Given the description of an element on the screen output the (x, y) to click on. 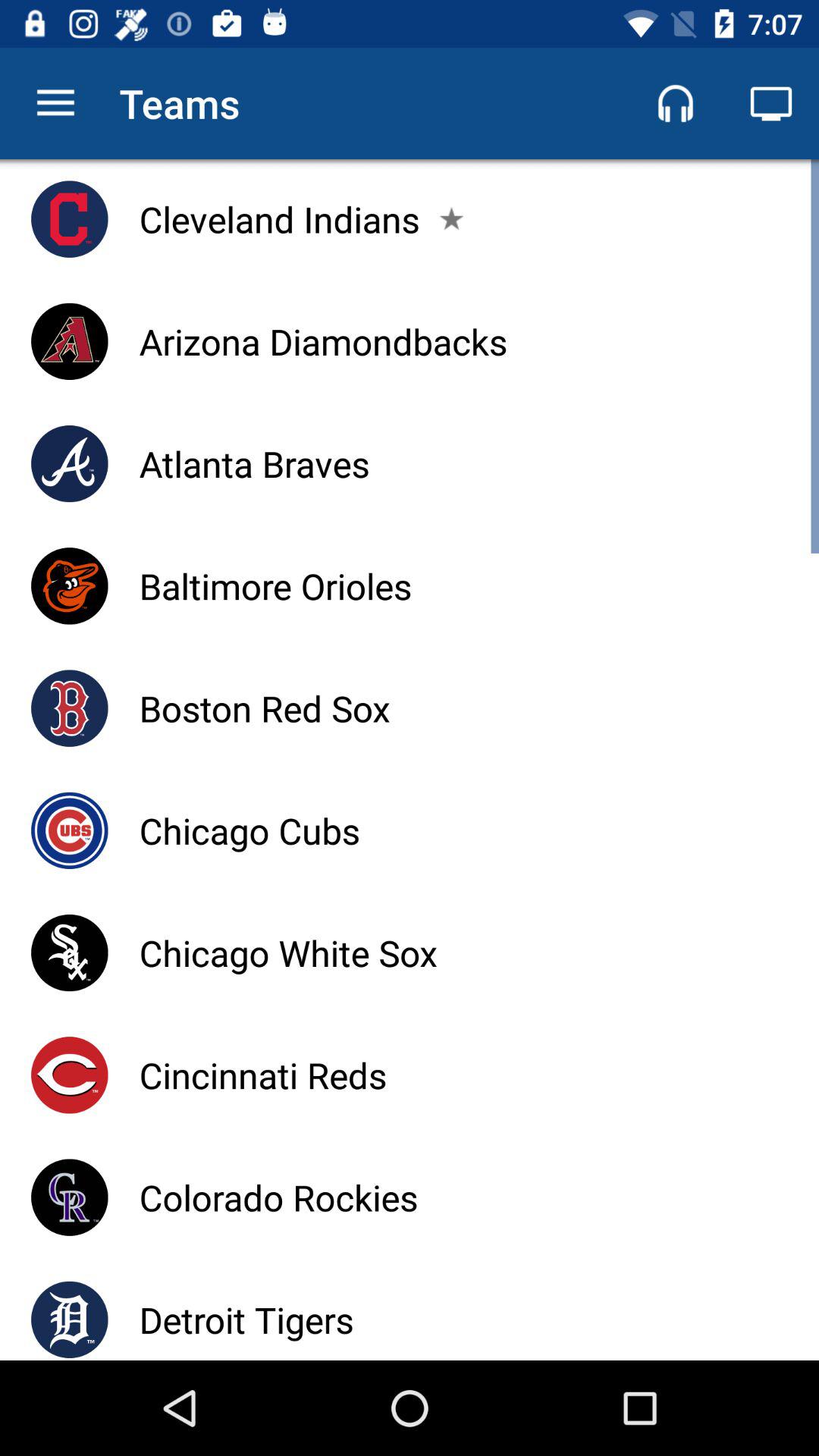
choose item below the chicago white sox icon (262, 1075)
